Given the description of an element on the screen output the (x, y) to click on. 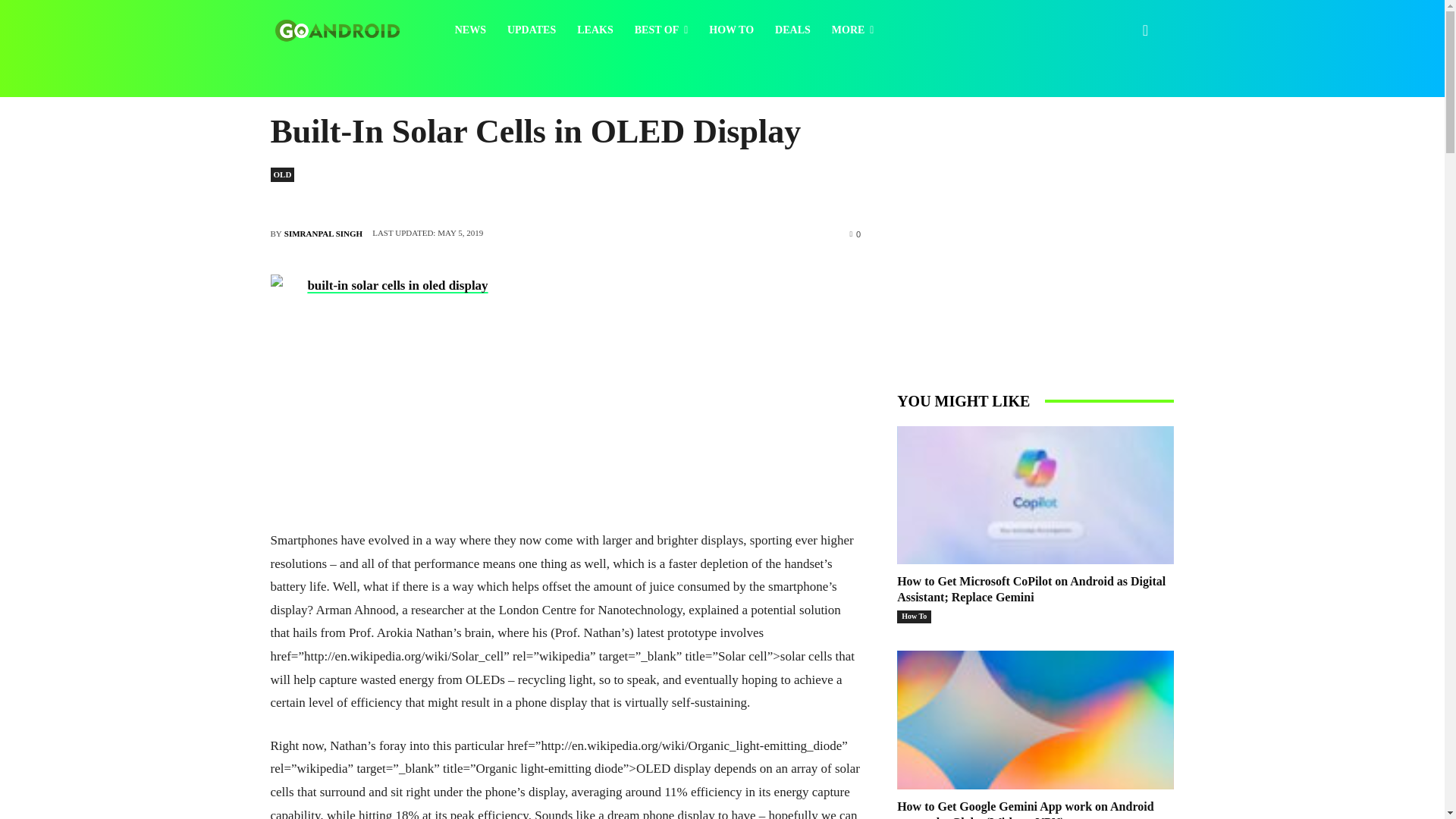
MORE (853, 30)
UPDATES (531, 30)
BEST OF (661, 30)
DEALS (792, 30)
built-in solar cells in oled display 1 (390, 381)
SIMRANPAL SINGH (322, 232)
0 (854, 233)
LEAKS (594, 30)
HOW TO (731, 30)
OLD (281, 174)
